Given the description of an element on the screen output the (x, y) to click on. 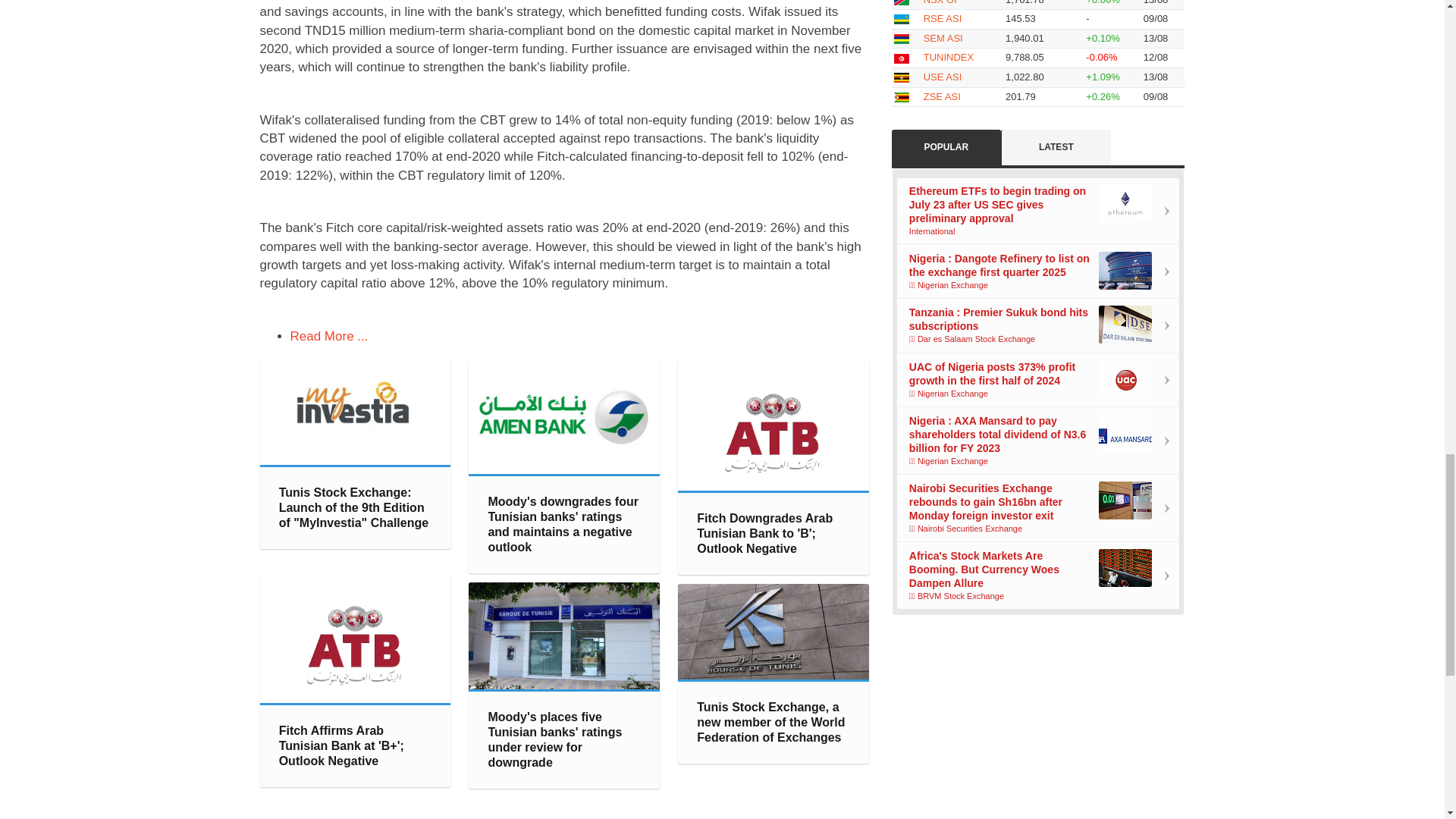
Fitch Downgrades Arab Tunisian Bank to 'B'; Outlook Negative (773, 425)
